Given the description of an element on the screen output the (x, y) to click on. 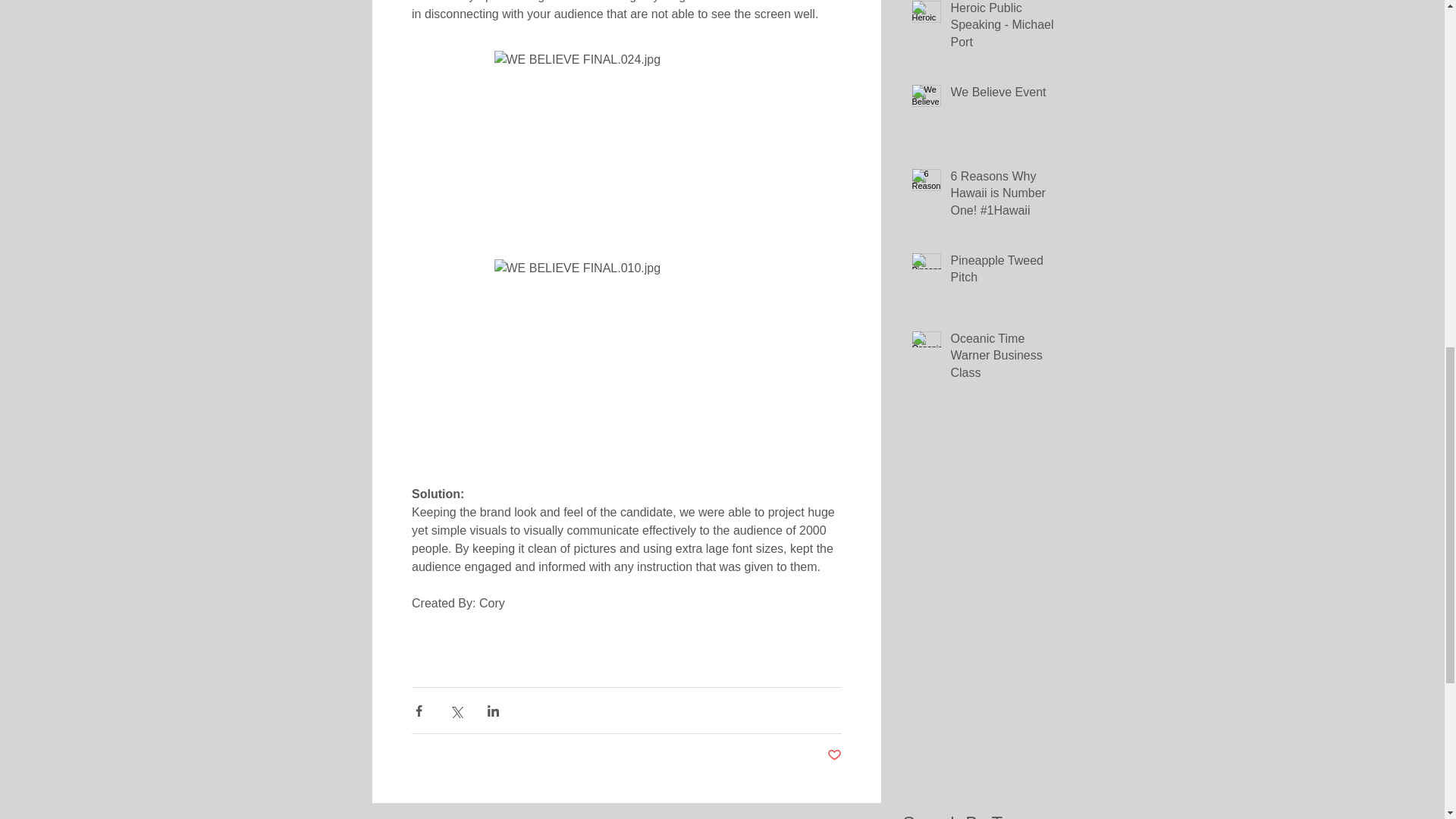
Heroic Public Speaking - Michael Port (1004, 28)
Oceanic Time Warner Business Class (1004, 358)
Post not marked as liked (834, 755)
We Believe Event (1004, 95)
Pineapple Tweed Pitch (1004, 272)
